Given the description of an element on the screen output the (x, y) to click on. 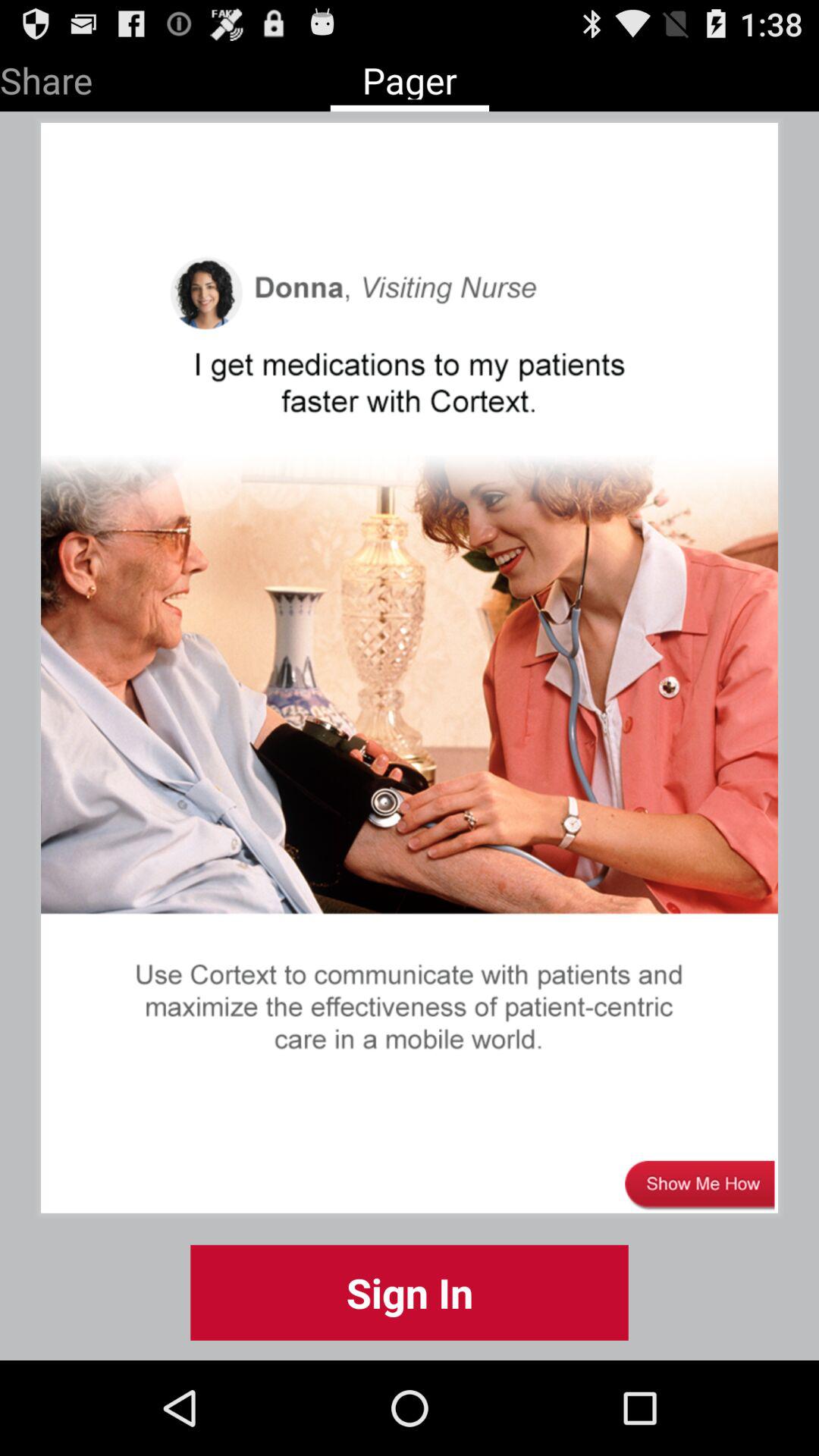
turn on share at the top left corner (46, 77)
